Given the description of an element on the screen output the (x, y) to click on. 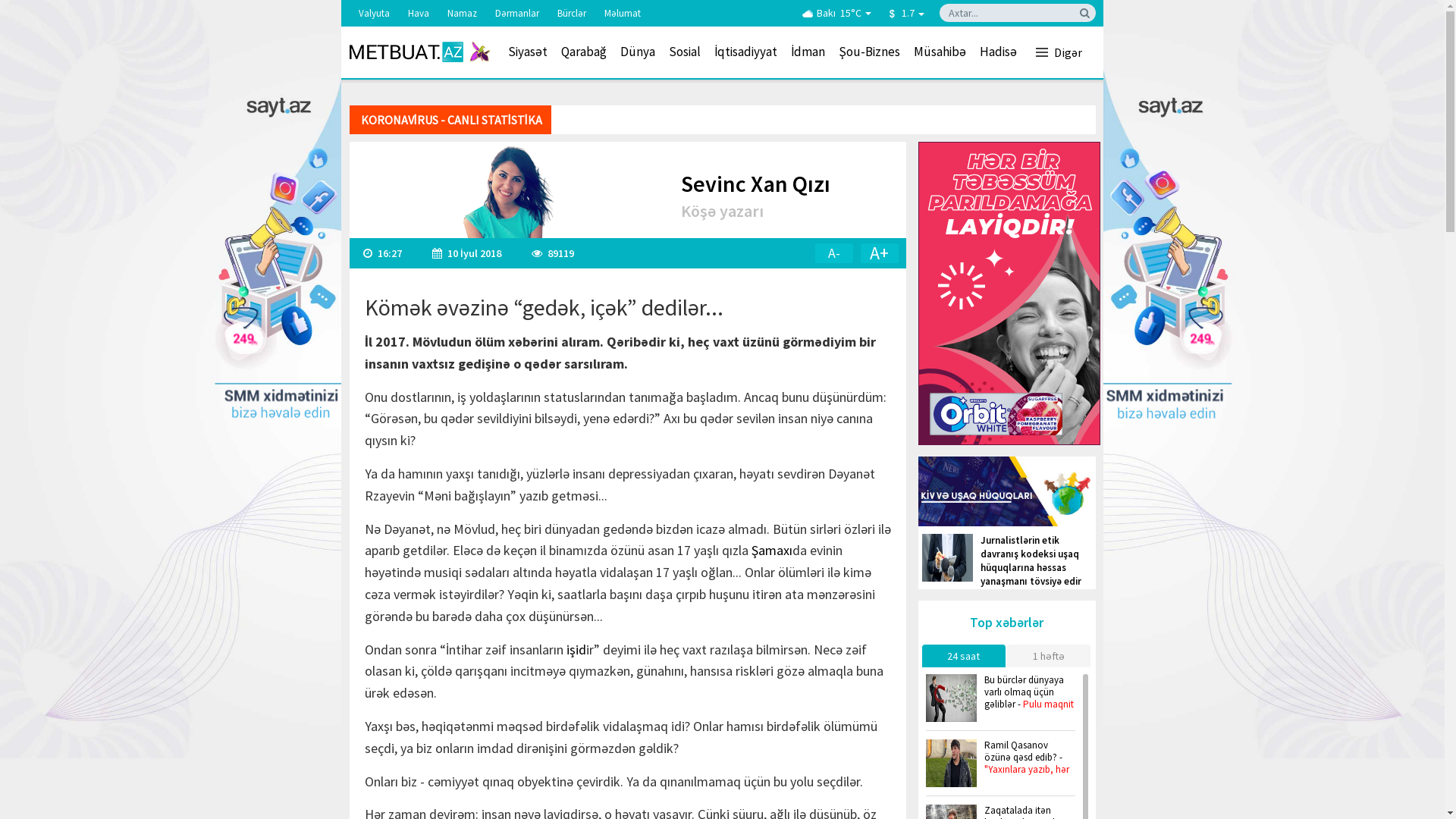
A+ Element type: text (878, 252)
24 saat Element type: text (963, 655)
A+ Element type: text (878, 253)
1.7 Element type: text (904, 12)
A- Element type: text (834, 252)
A- Element type: text (833, 253)
Sosial Element type: text (683, 51)
metbuat.az Element type: hover (418, 51)
